Given the description of an element on the screen output the (x, y) to click on. 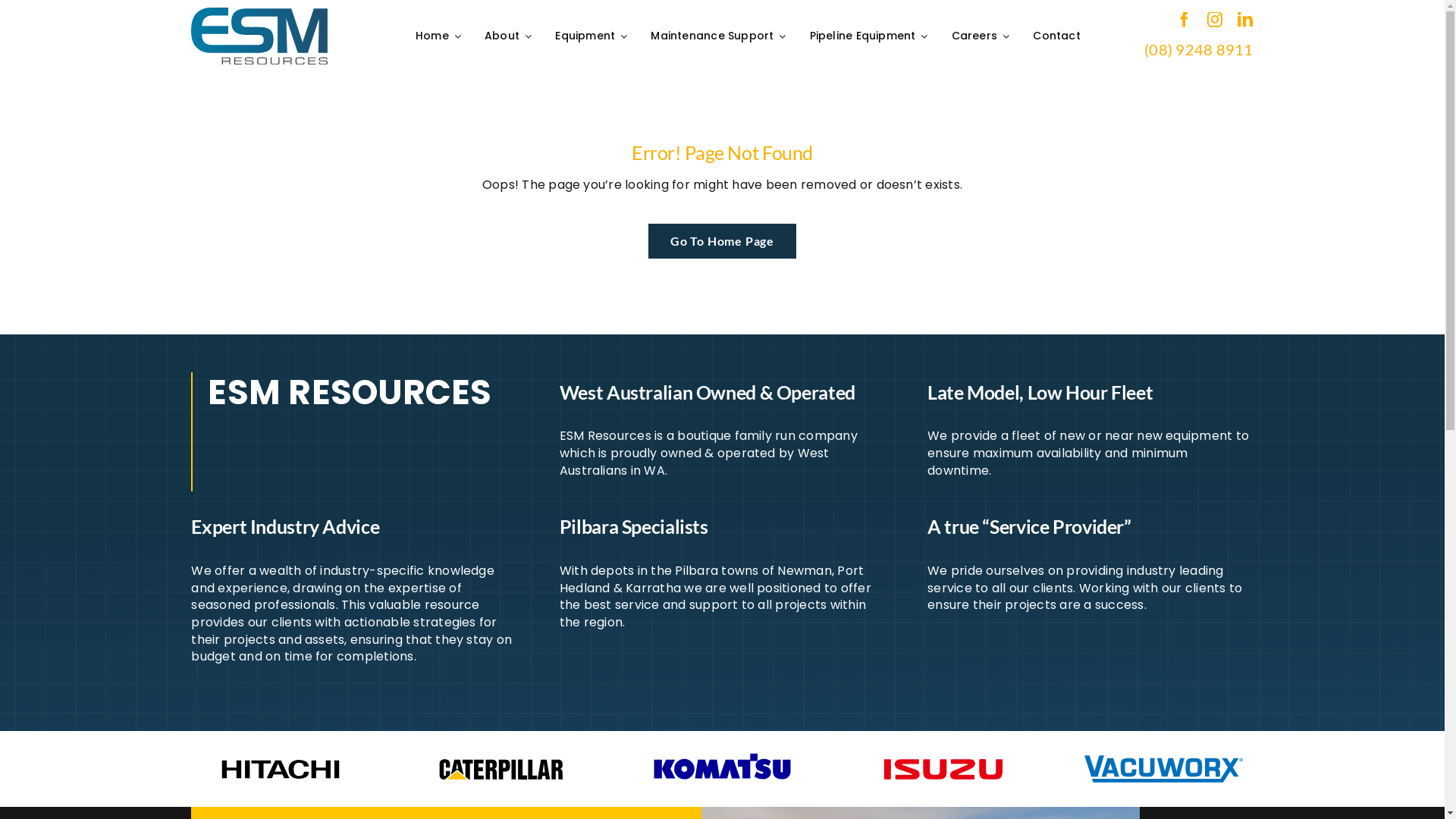
Equipment Element type: text (592, 36)
Careers Element type: text (982, 36)
(08) 9248 8911 Element type: text (1198, 49)
About Element type: text (509, 36)
Pipeline Equipment Element type: text (870, 36)
Contact Element type: text (1057, 36)
Home Element type: text (439, 36)
Go To Home Page Element type: text (722, 240)
Maintenance Support Element type: text (719, 36)
